Given the description of an element on the screen output the (x, y) to click on. 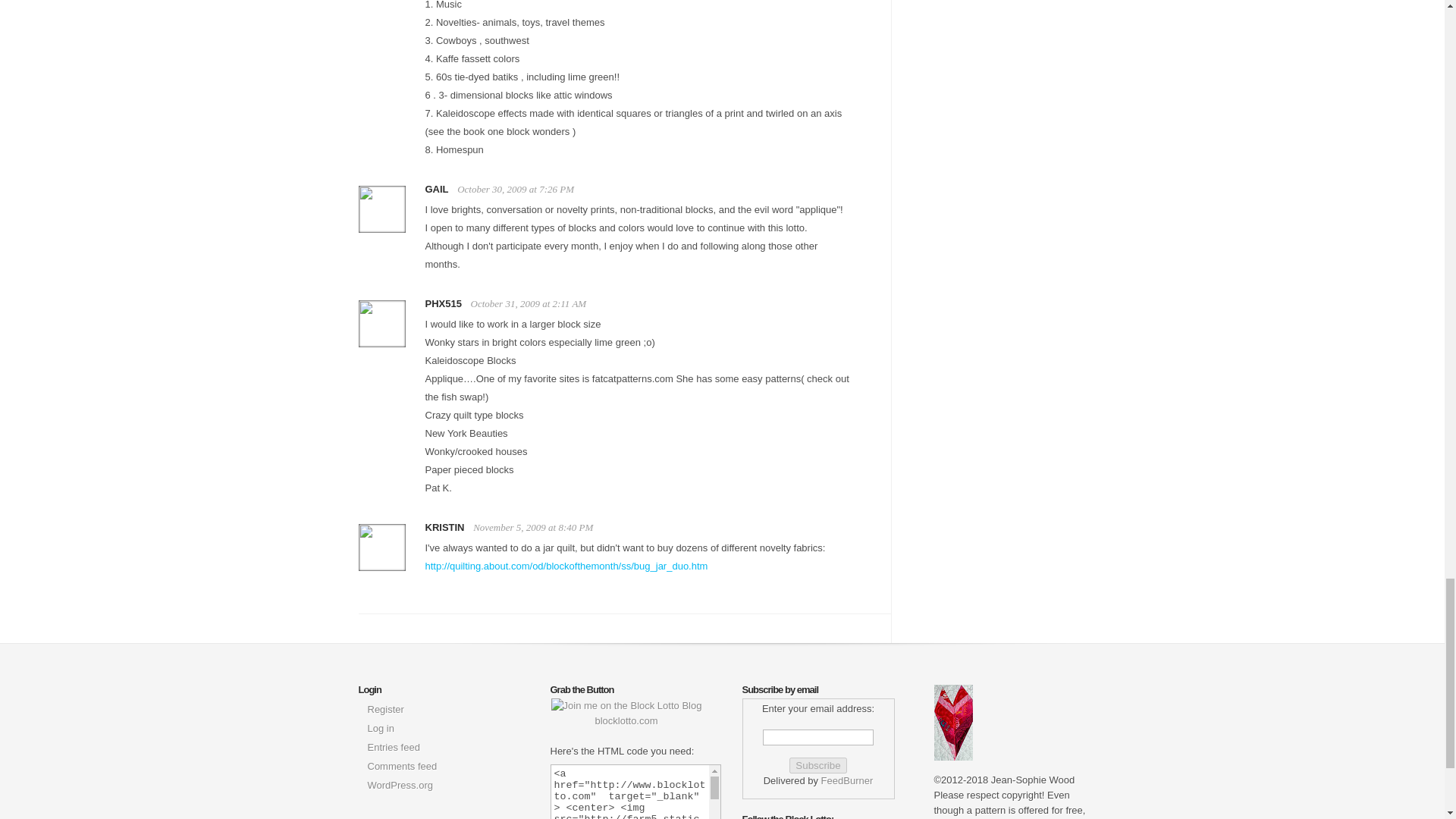
Log in (379, 727)
Subscribe (817, 765)
Subscribe (817, 765)
Register (384, 708)
WordPress.org (399, 785)
Comments feed (401, 766)
blocklotto.com (626, 713)
FeedBurner (847, 780)
Entries feed (392, 747)
